Given the description of an element on the screen output the (x, y) to click on. 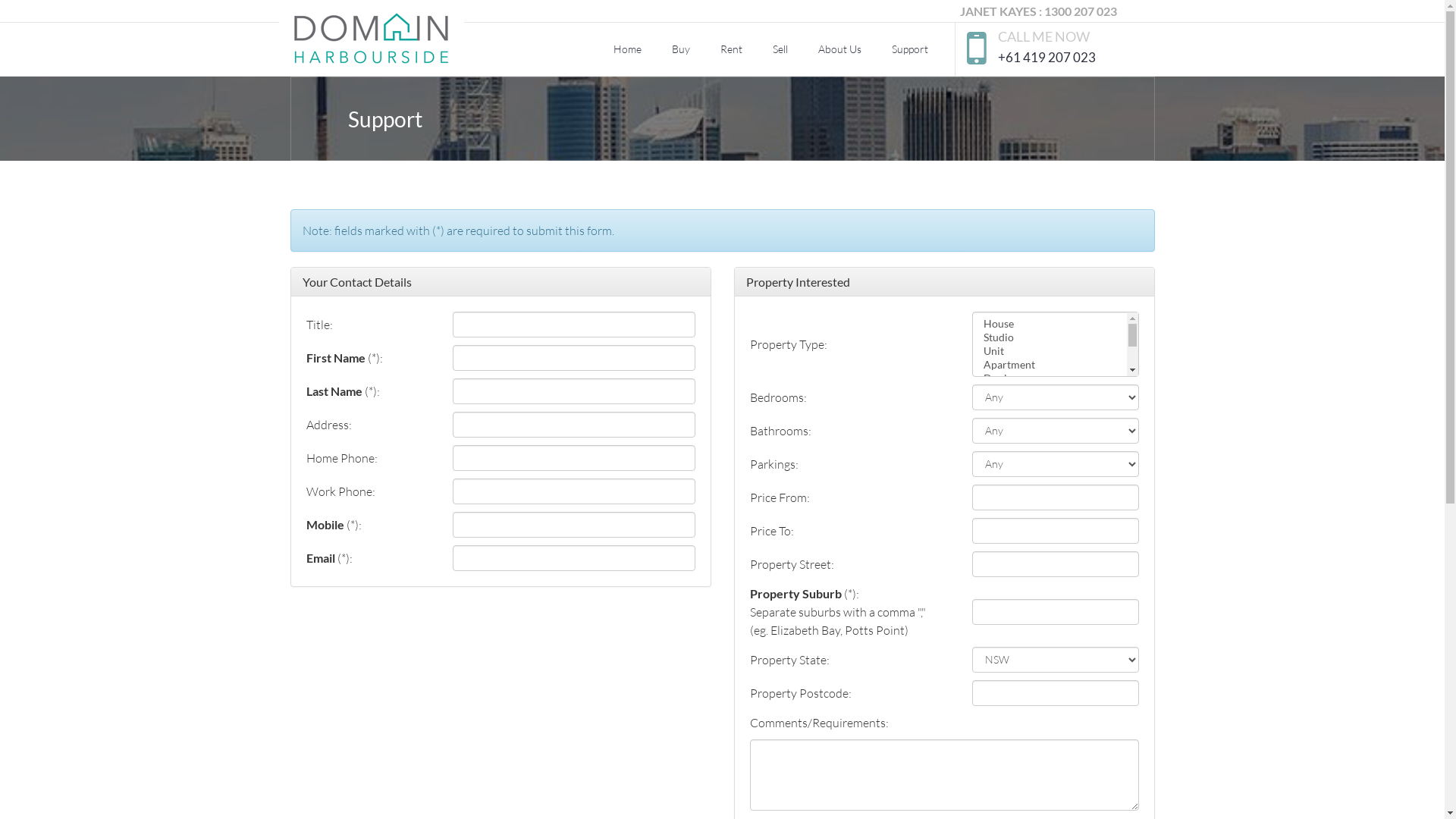
Buy Element type: text (680, 48)
JANET KAYES : 1300 207 023 Element type: text (1038, 10)
Rent Element type: text (731, 48)
Sell Element type: text (779, 48)
+61 419 207 023 Element type: text (1046, 57)
Support Element type: text (909, 48)
About Us Element type: text (838, 48)
Home Element type: text (626, 48)
Domain Harbourside Element type: hover (351, 48)
